Given the description of an element on the screen output the (x, y) to click on. 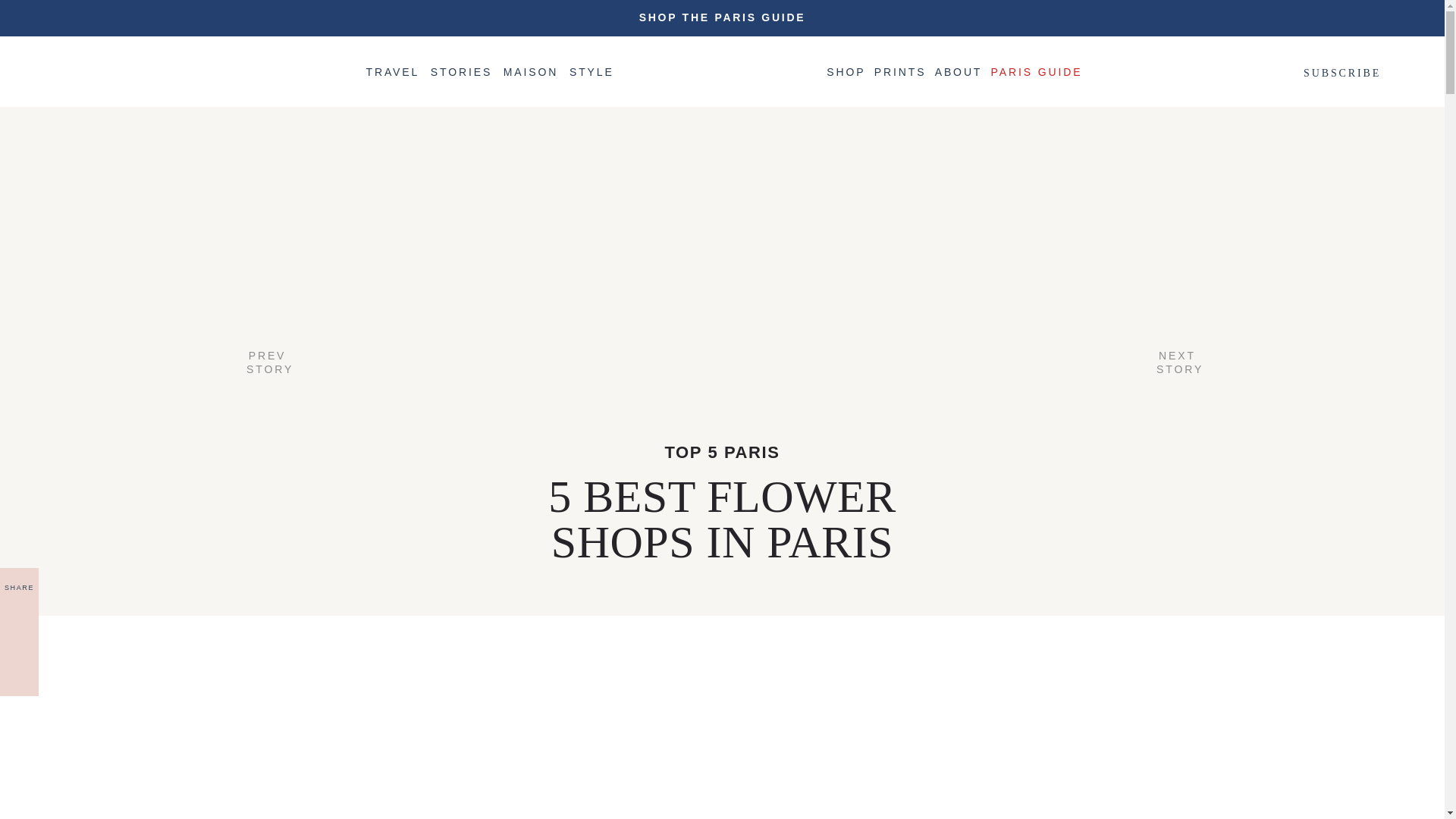
SHOP THE PARIS GUIDE (954, 79)
TRAVEL (489, 79)
